Given the description of an element on the screen output the (x, y) to click on. 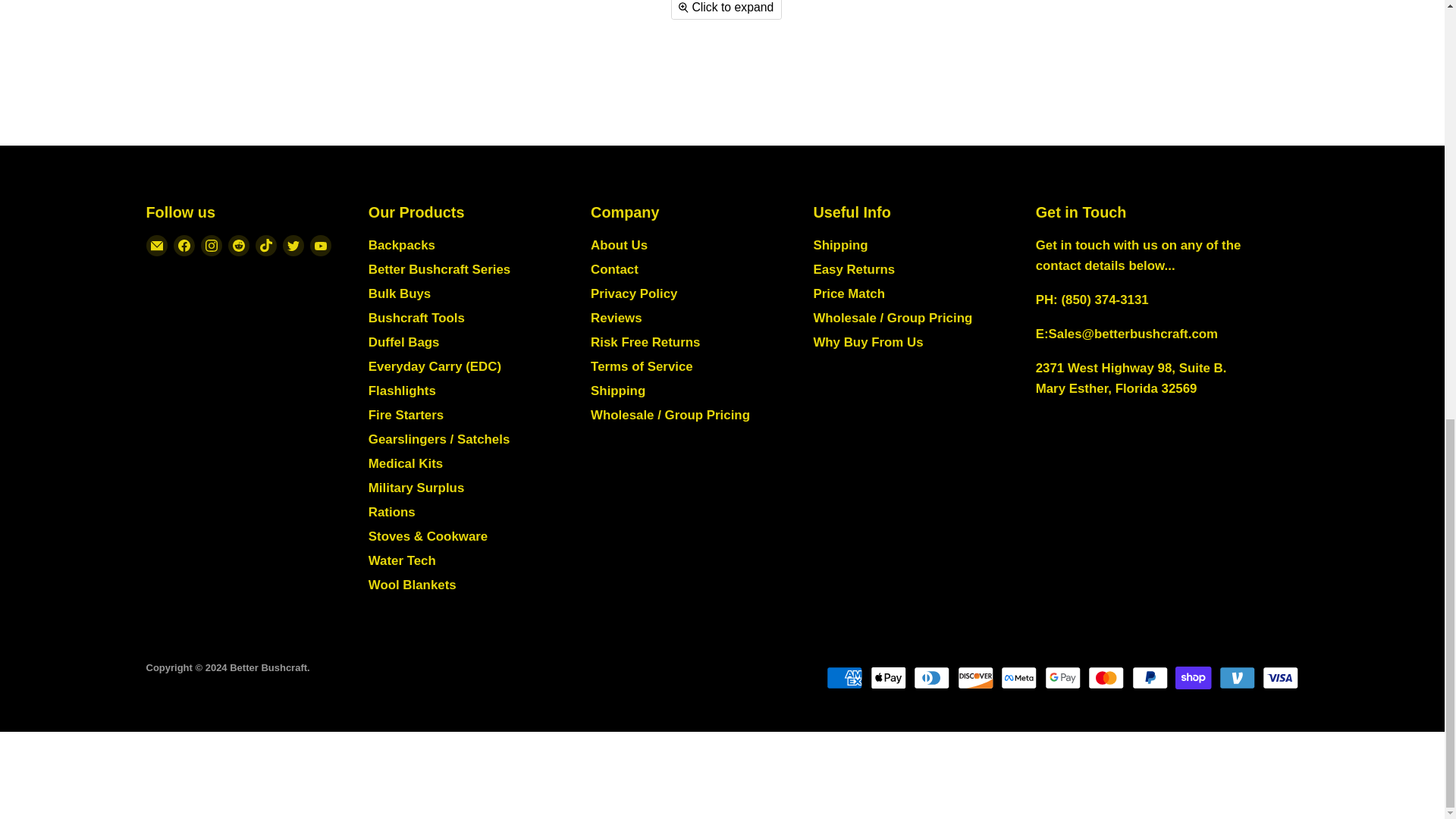
YouTube (319, 245)
TikTok (265, 245)
E-mail (156, 245)
Reddit (237, 245)
Instagram (210, 245)
Twitter (292, 245)
Facebook (183, 245)
